Given the description of an element on the screen output the (x, y) to click on. 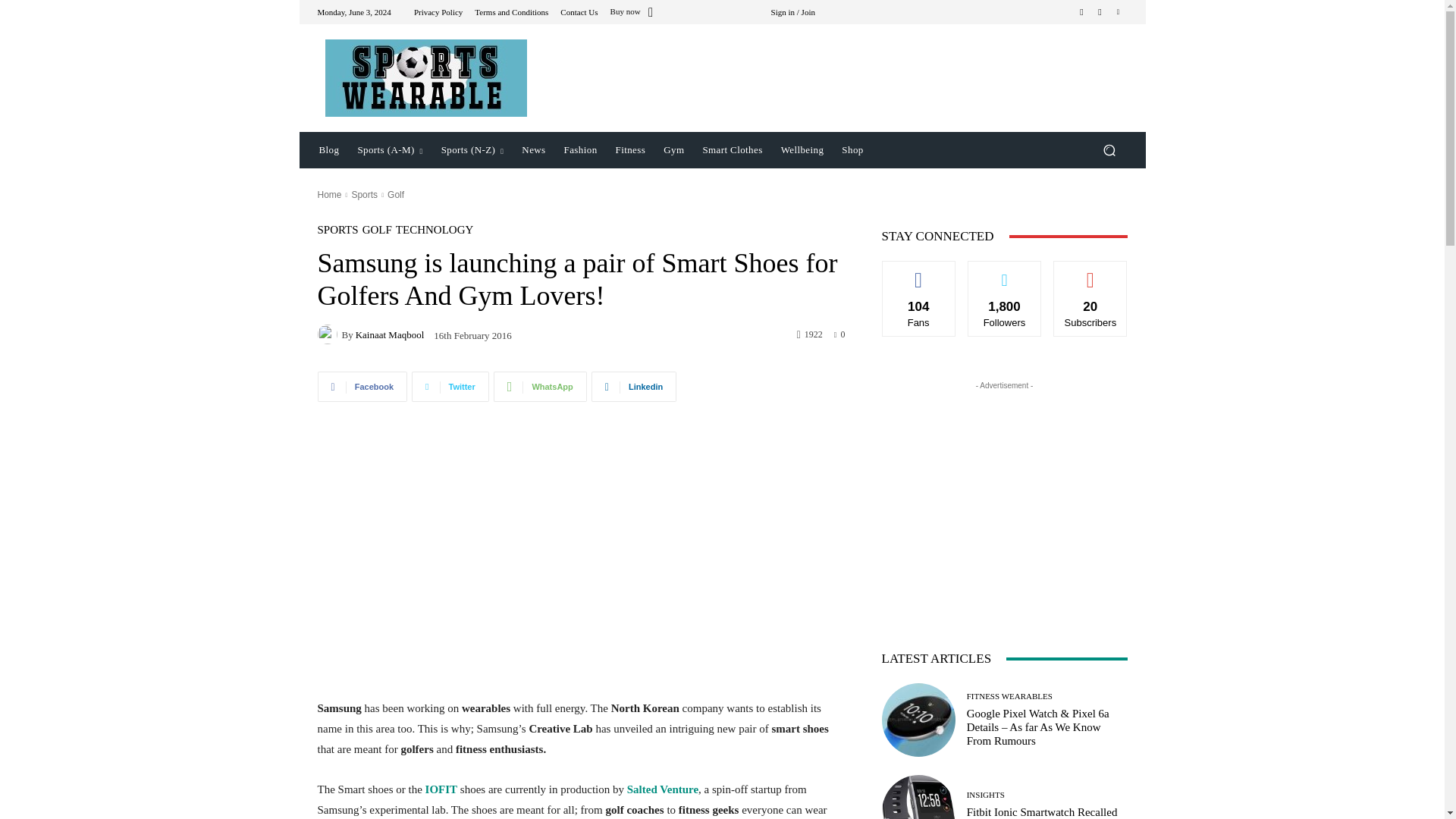
Kainaat Maqbool (328, 333)
Linkedin (634, 386)
Instagram (1099, 12)
Twitter (450, 386)
WhatsApp (539, 386)
Facebook (1080, 12)
Facebook (362, 386)
Twitter (1117, 12)
View all posts in Golf (395, 194)
View all posts in Sports (363, 194)
